Given the description of an element on the screen output the (x, y) to click on. 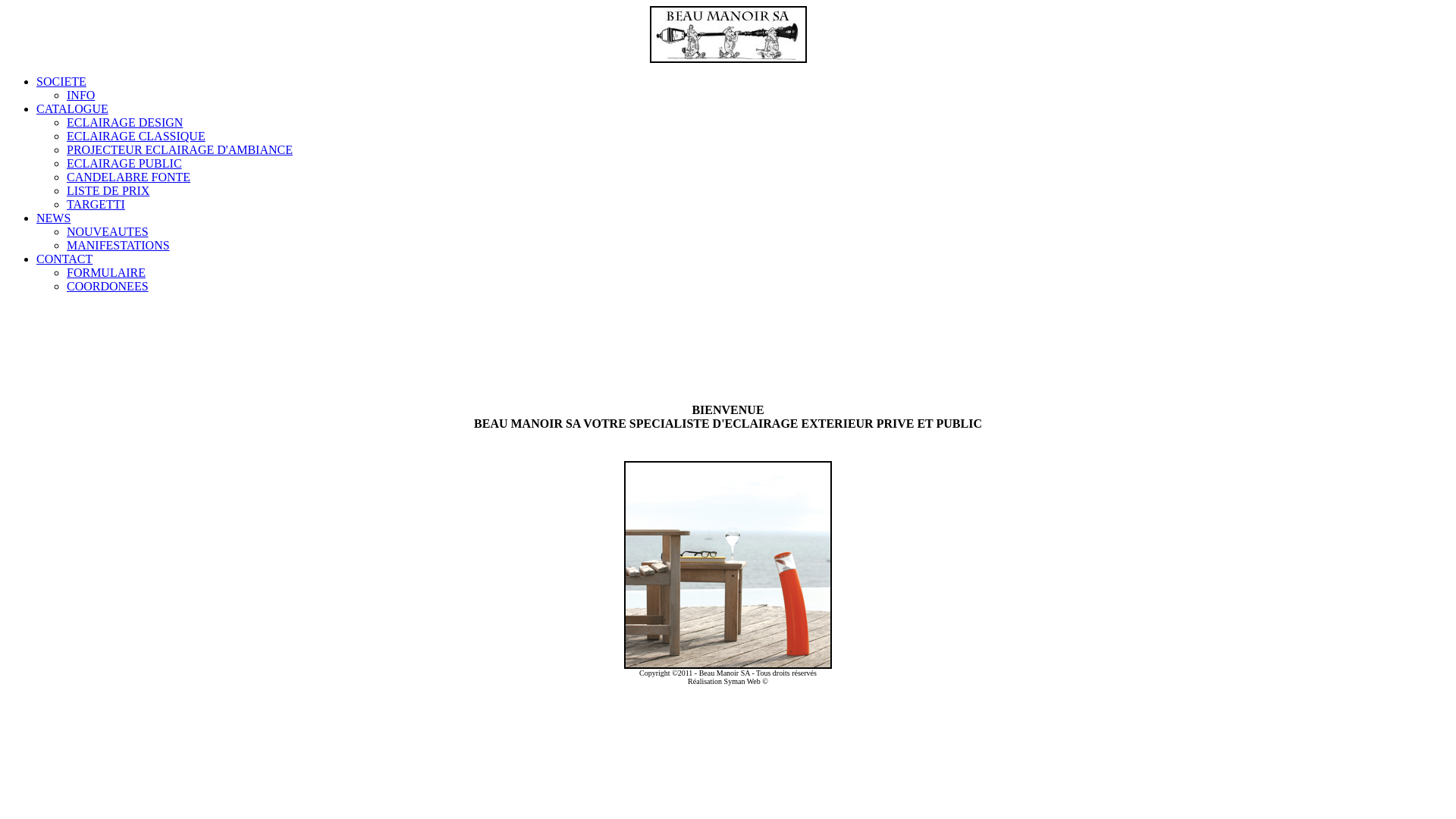
ECLAIRAGE CLASSIQUE Element type: text (135, 135)
TARGETTI Element type: text (95, 203)
INFO Element type: text (80, 94)
CANDELABRE FONTE Element type: text (128, 176)
CONTACT Element type: text (64, 258)
ECLAIRAGE PUBLIC Element type: text (124, 162)
NOUVEAUTES Element type: text (107, 231)
CATALOGUE Element type: text (72, 108)
NEWS Element type: text (53, 217)
COORDONEES Element type: text (107, 285)
FORMULAIRE Element type: text (105, 272)
MANIFESTATIONS Element type: text (117, 244)
ECLAIRAGE DESIGN Element type: text (124, 122)
SOCIETE Element type: text (61, 81)
PROJECTEUR ECLAIRAGE D'AMBIANCE Element type: text (179, 149)
LISTE DE PRIX Element type: text (107, 190)
